Given the description of an element on the screen output the (x, y) to click on. 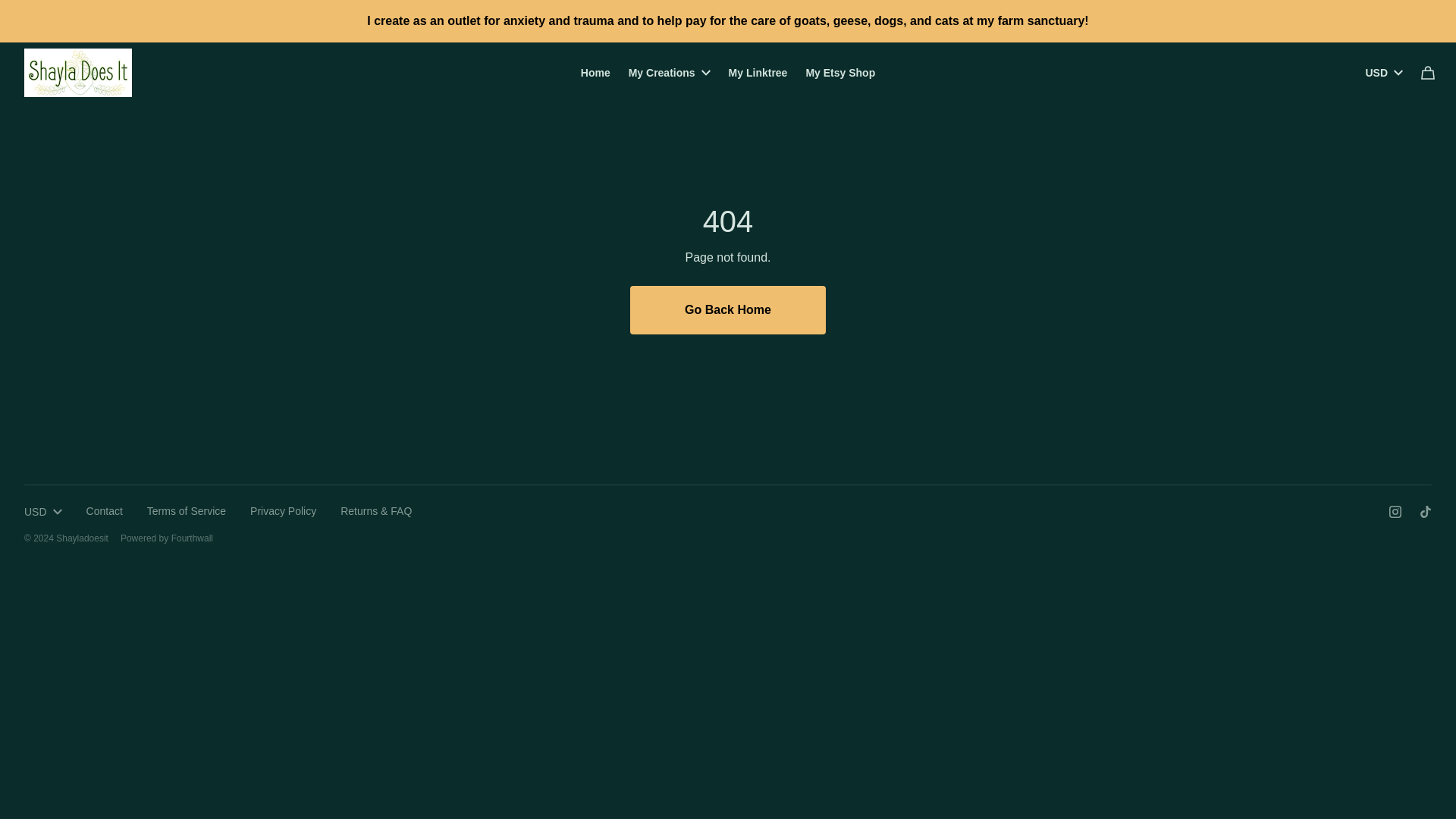
Home (596, 73)
USD (1383, 72)
Shayladoesit (727, 309)
My Etsy Shop (839, 73)
My Creations (669, 72)
My Linktree (757, 73)
